Given the description of an element on the screen output the (x, y) to click on. 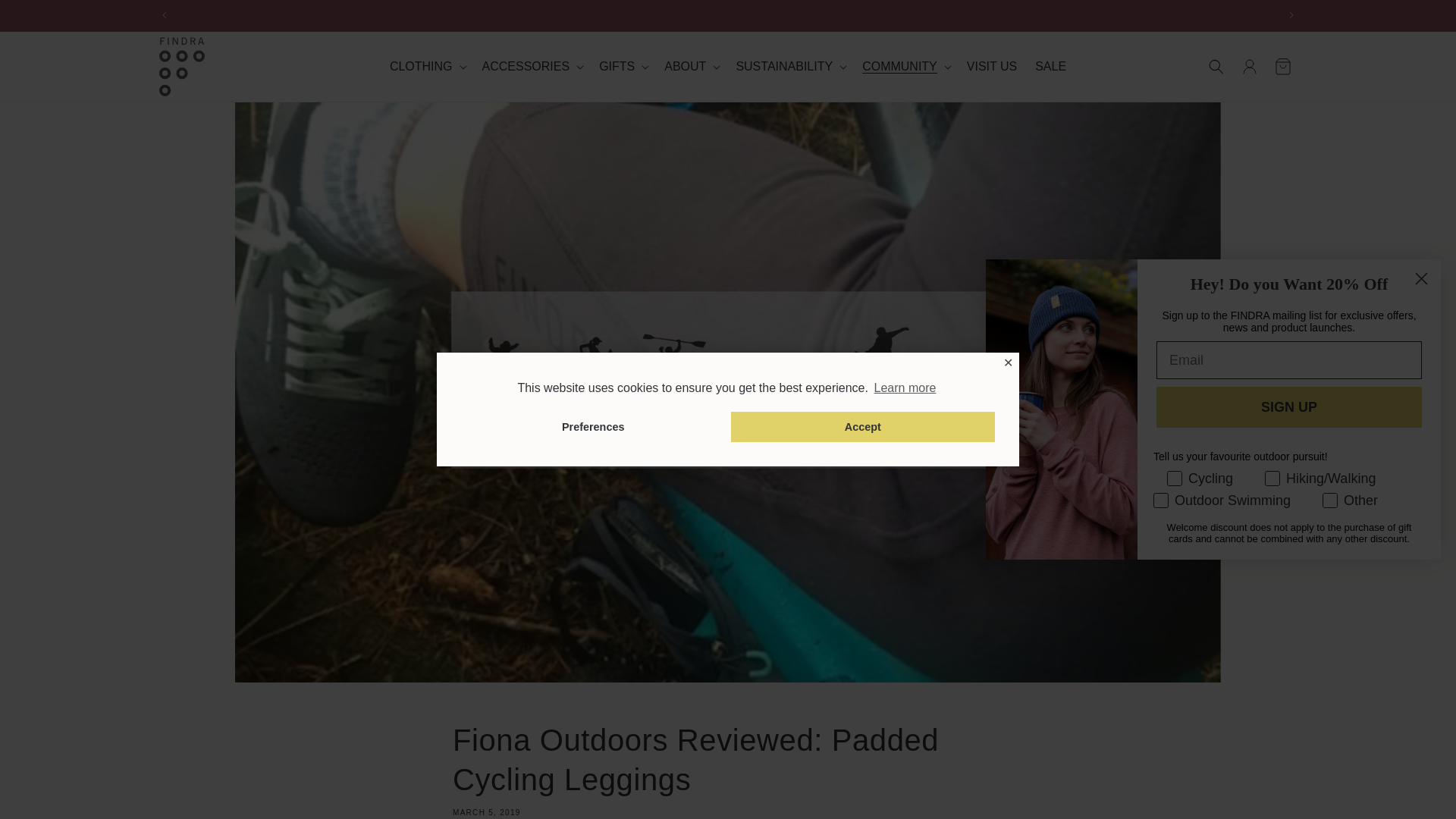
Close dialog 4 (1420, 278)
SKIP TO CONTENT (45, 17)
Accept (862, 426)
Learn more (903, 387)
Preferences (593, 426)
